Given the description of an element on the screen output the (x, y) to click on. 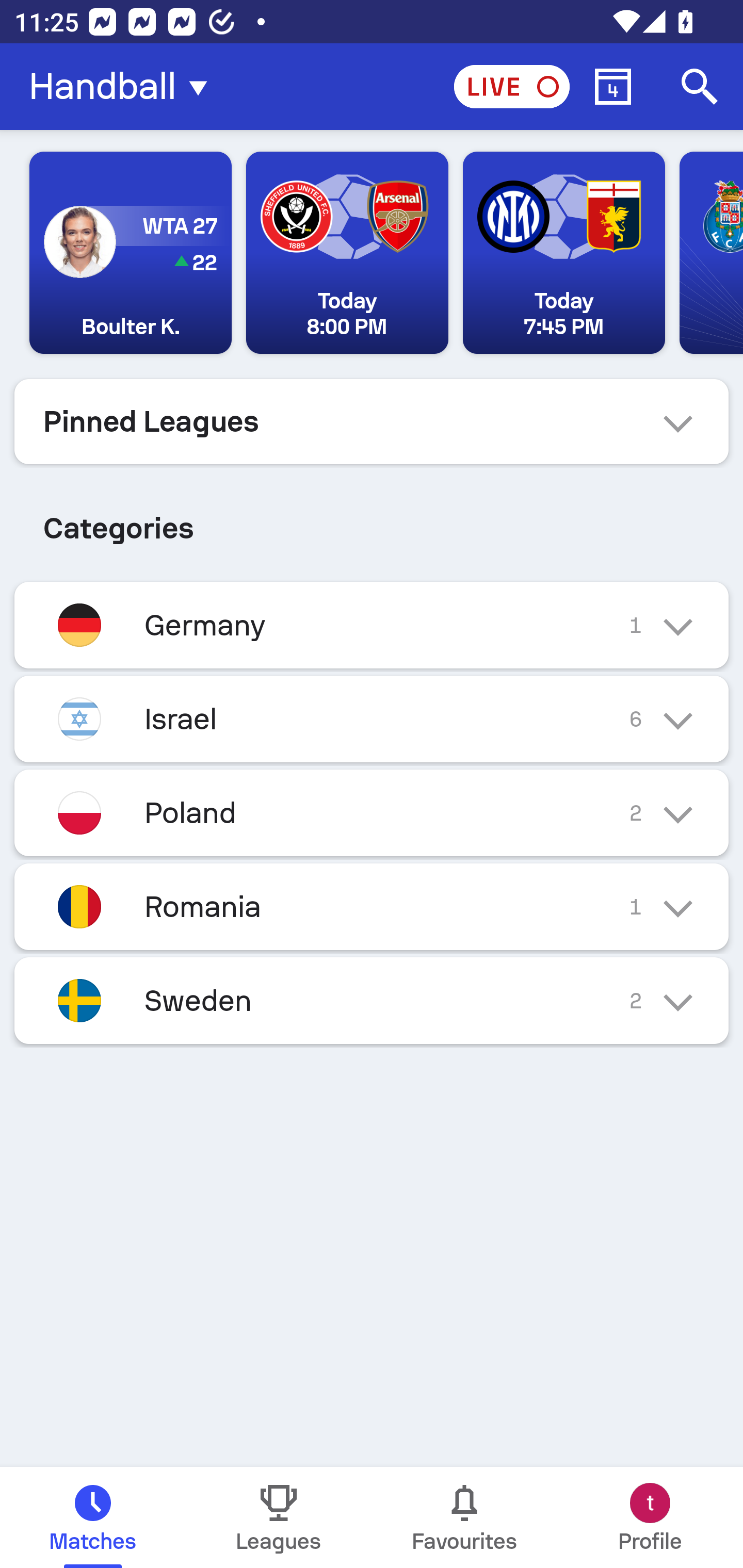
Handball (124, 86)
Calendar (612, 86)
Search (699, 86)
WTA 27 22 Boulter K. (130, 253)
Today
8:00 PM (346, 253)
Today
7:45 PM (563, 253)
Pinned Leagues (371, 421)
Categories (371, 520)
Germany 1 (371, 624)
Israel 6 (371, 718)
Poland 2 (371, 812)
Romania 1 (371, 906)
Sweden 2 (371, 1001)
Leagues (278, 1517)
Favourites (464, 1517)
Profile (650, 1517)
